Given the description of an element on the screen output the (x, y) to click on. 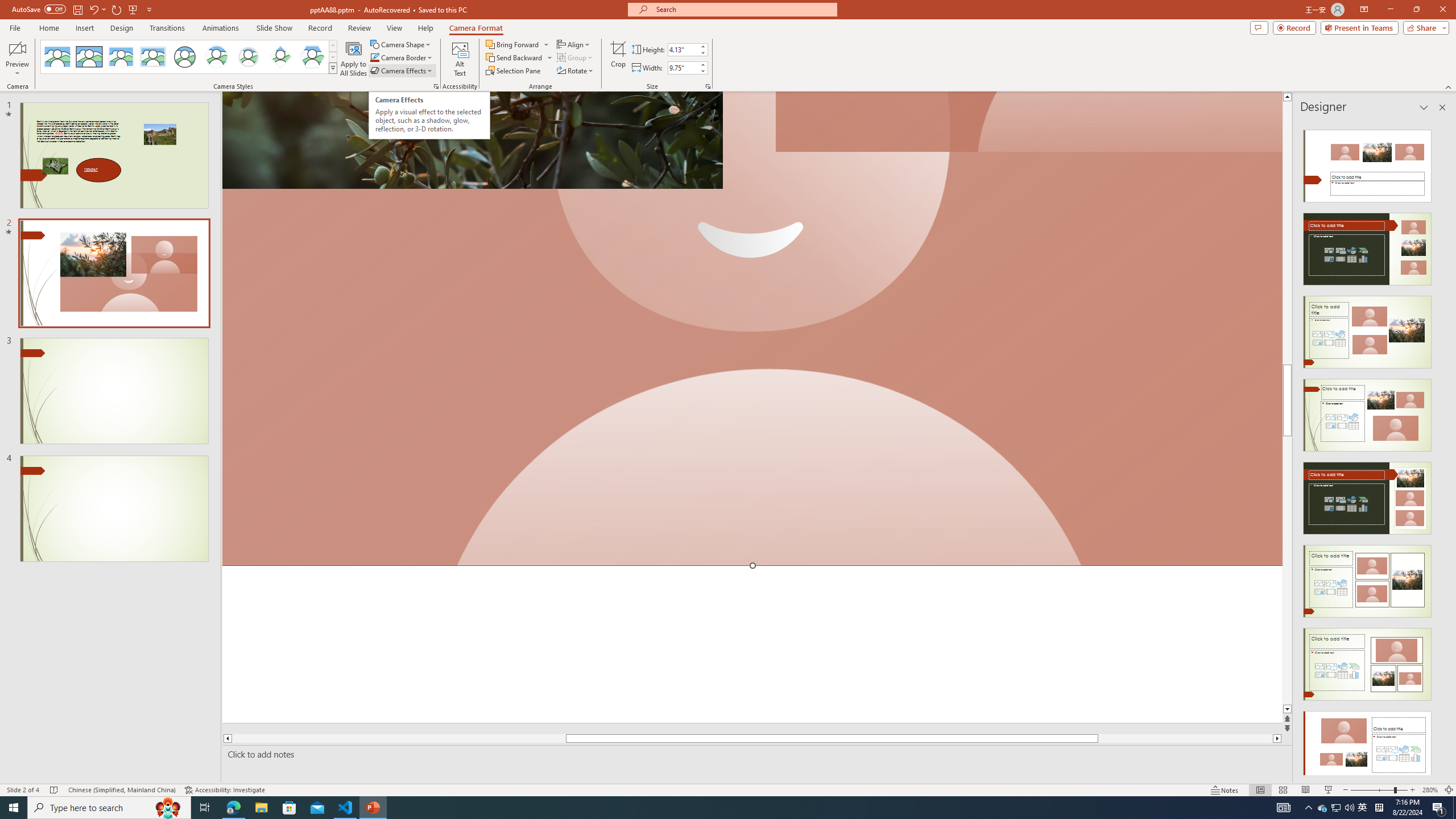
AutomationID: CameoStylesGallery (189, 56)
Camera 7, No camera detected. (1028, 122)
More (702, 64)
Send Backward (518, 56)
Send Backward (514, 56)
Less (702, 70)
